Given the description of an element on the screen output the (x, y) to click on. 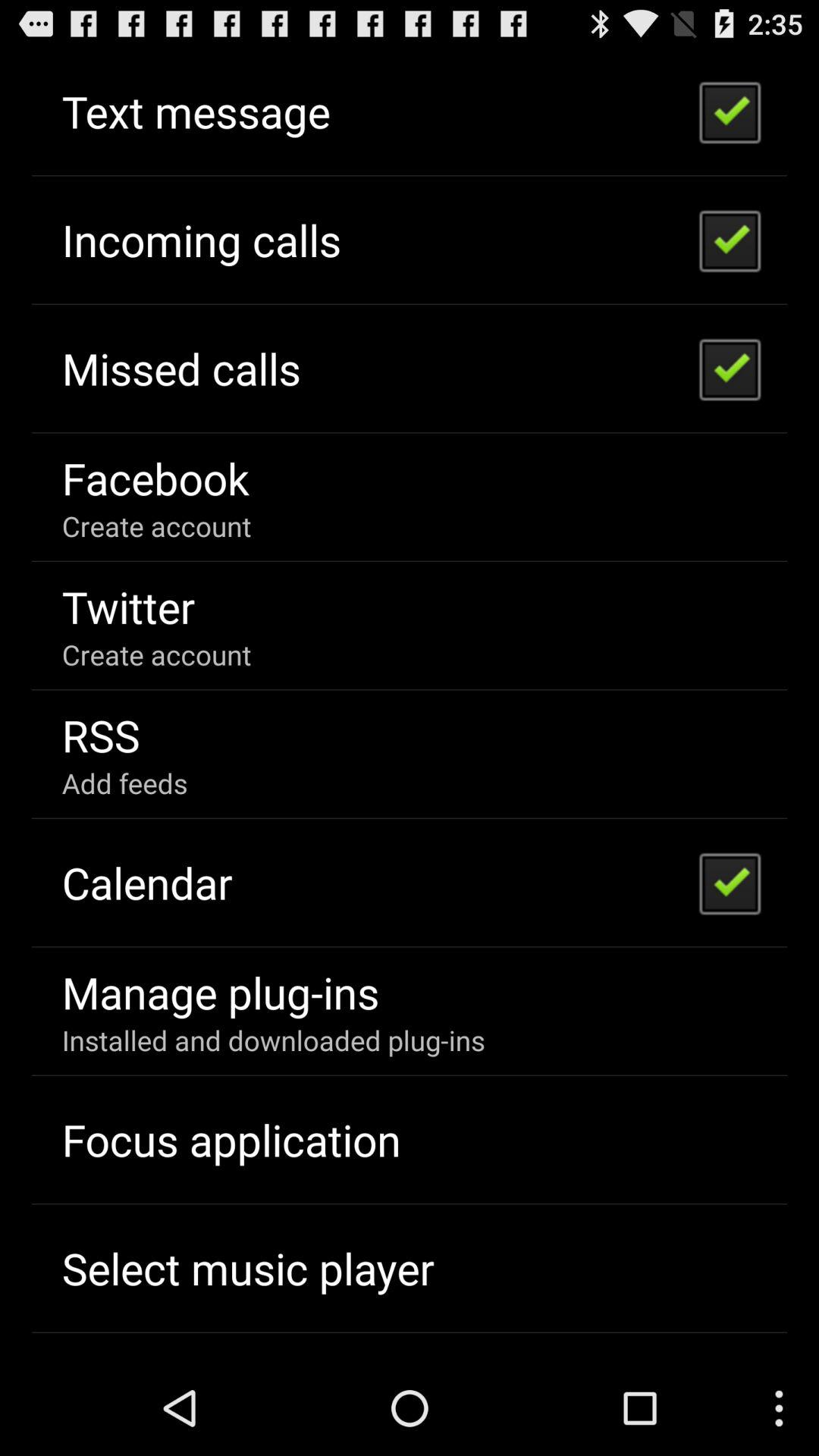
scroll until the rss icon (100, 734)
